Given the description of an element on the screen output the (x, y) to click on. 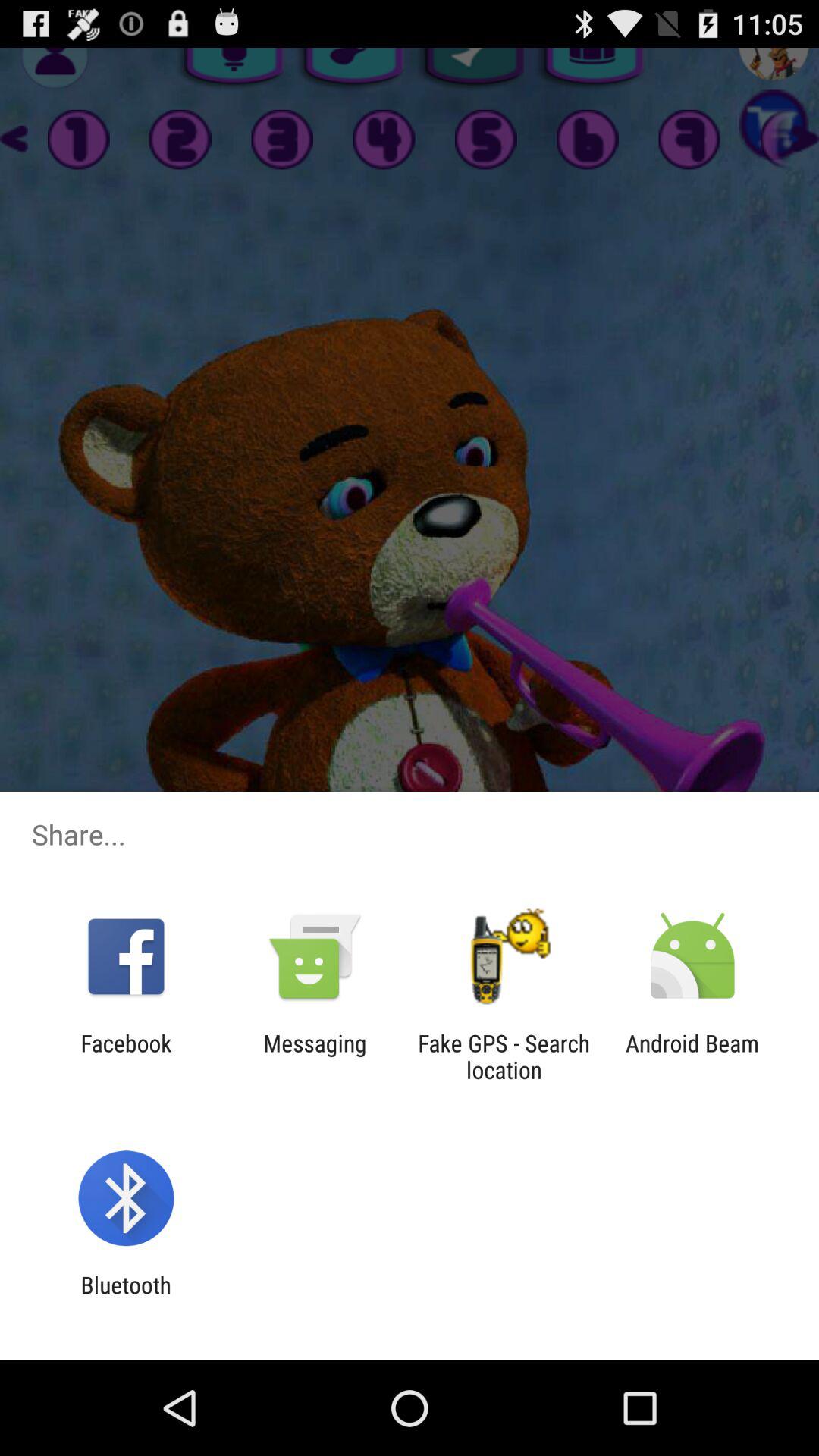
turn on messaging app (314, 1056)
